Given the description of an element on the screen output the (x, y) to click on. 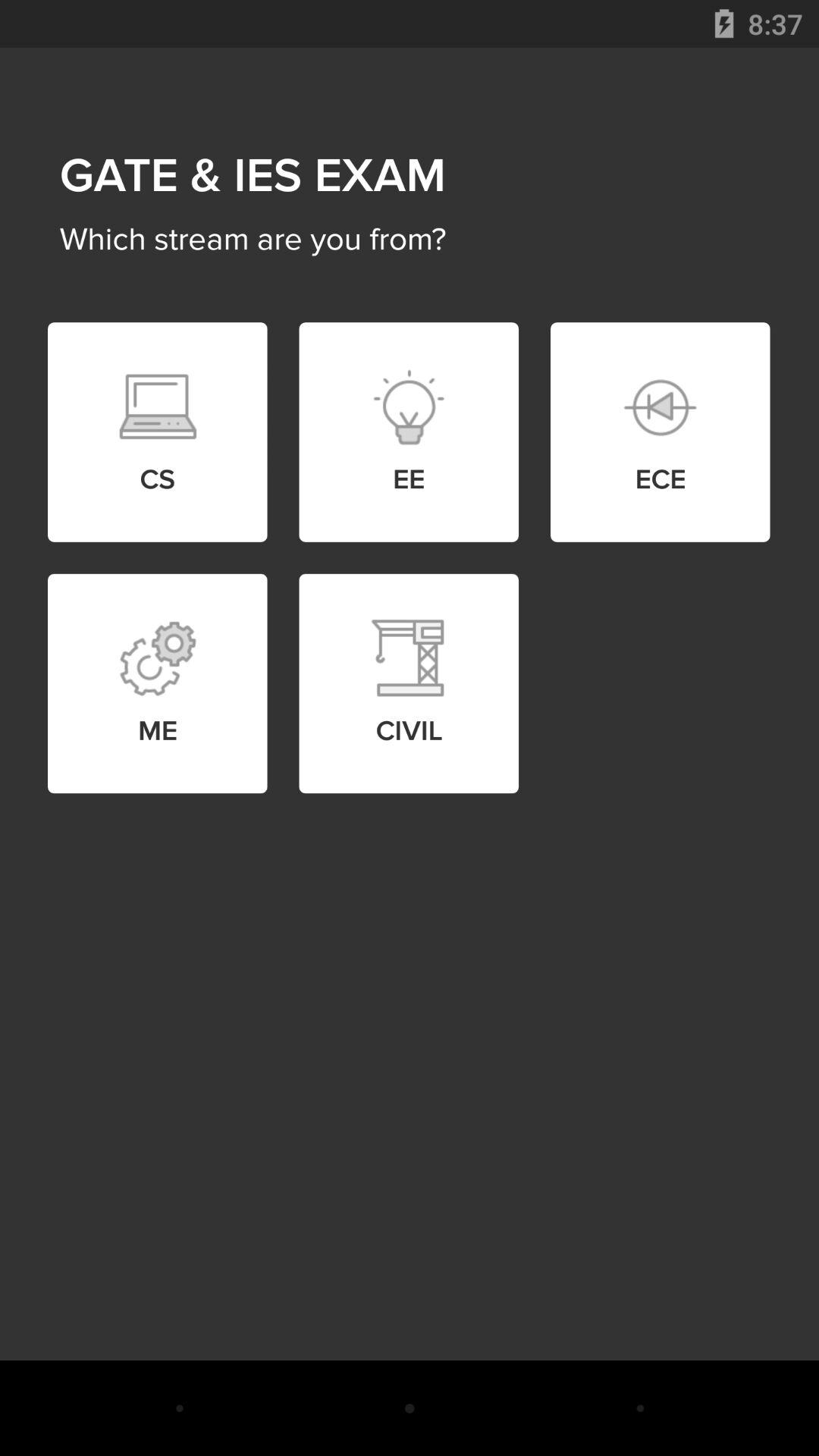
click on the text that reads cs (157, 407)
select the bulb symbol present above ee (408, 407)
select me (157, 658)
